Given the description of an element on the screen output the (x, y) to click on. 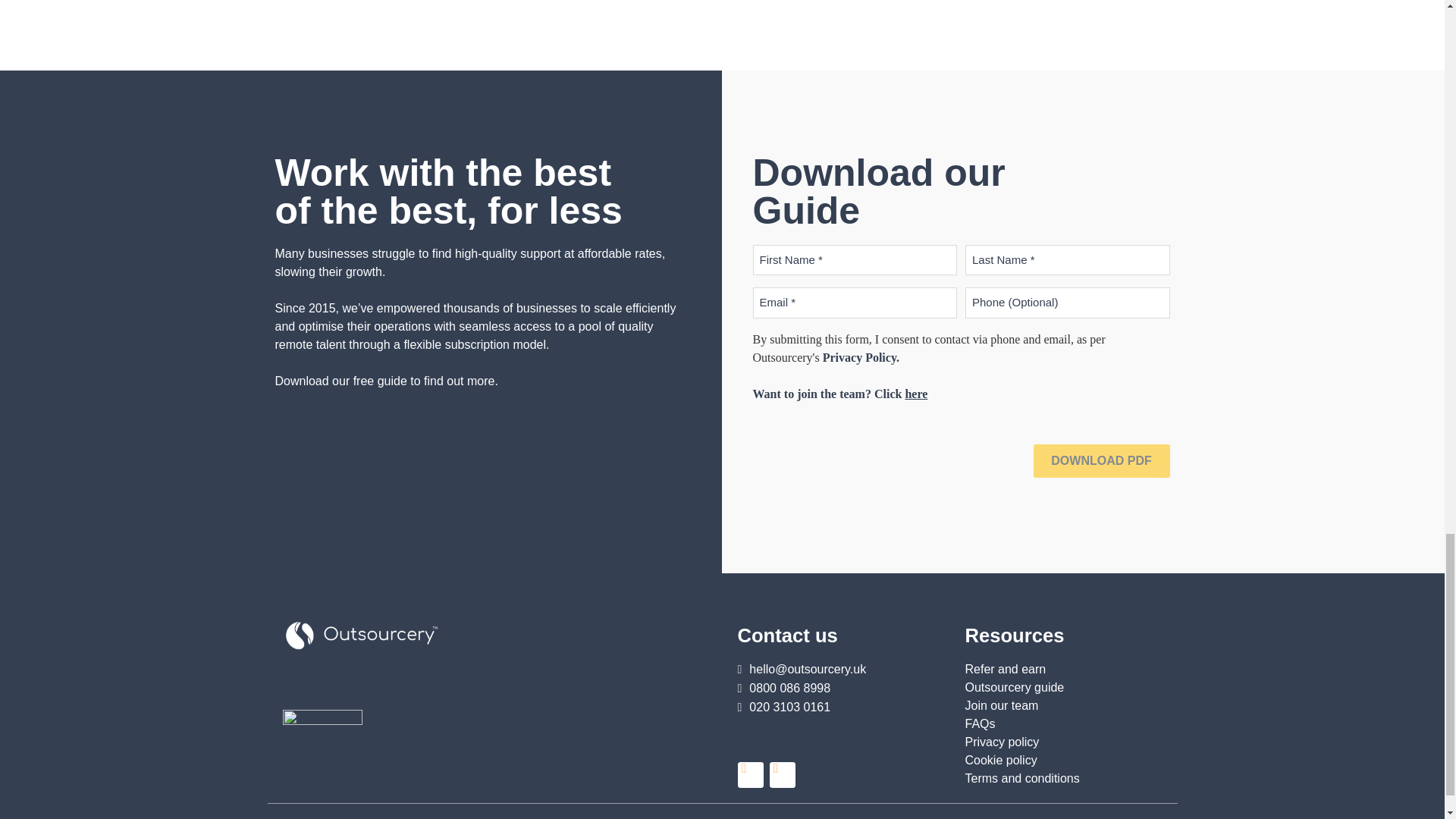
Download PDF (1100, 460)
0800 086 8998 (782, 688)
here (915, 393)
020 3103 0161 (782, 707)
Download PDF (1100, 460)
Refer and earn (1062, 669)
Outsourcery guide (1062, 687)
Privacy Policy. (860, 357)
